Given the description of an element on the screen output the (x, y) to click on. 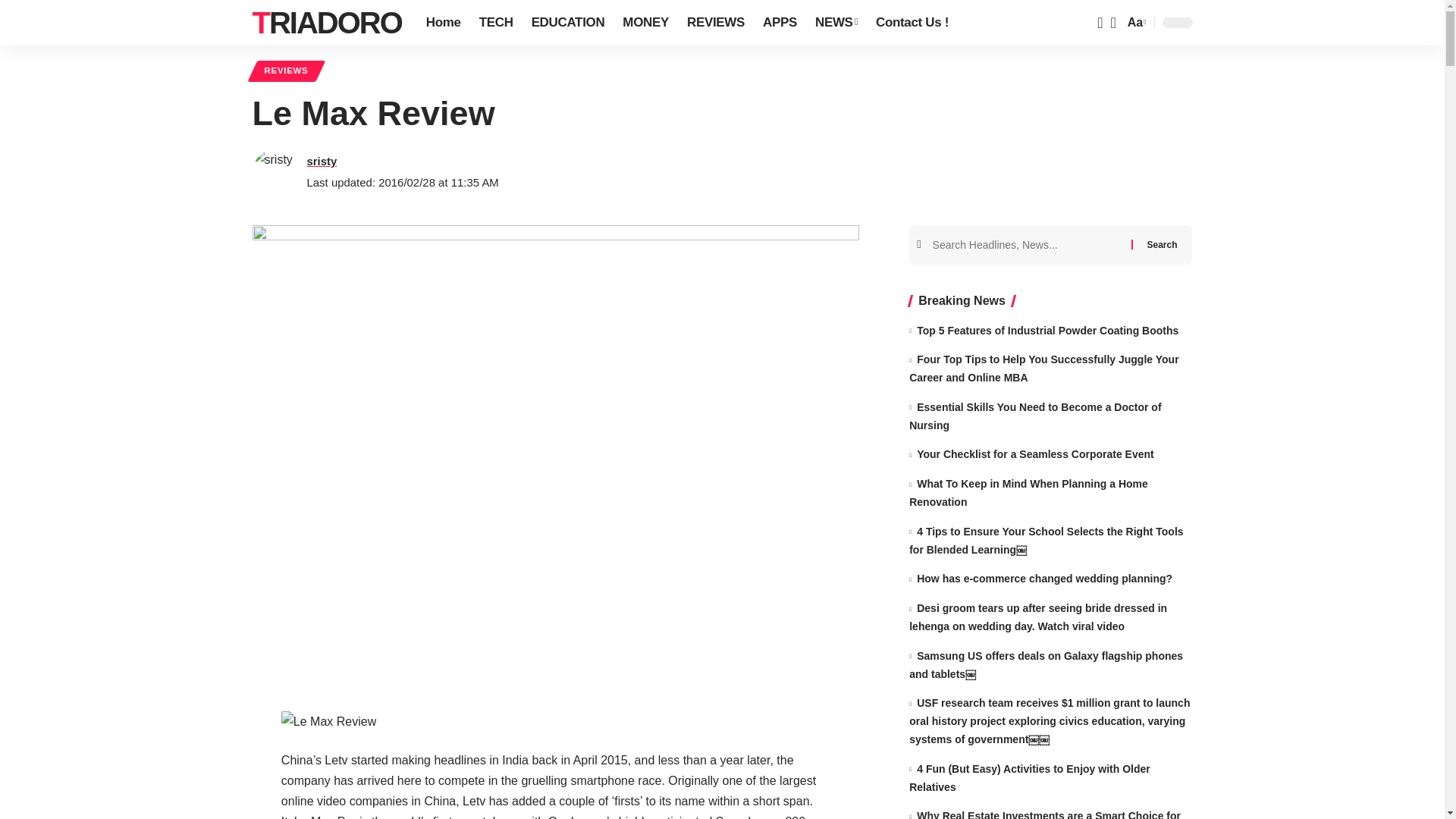
Triadoro (326, 22)
Le Max Review (328, 721)
Contact Us ! (912, 22)
APPS (780, 22)
Home (443, 22)
REVIEWS (716, 22)
EDUCATION (568, 22)
MONEY (645, 22)
Aa (1135, 22)
TECH (496, 22)
TRIADORO (326, 22)
Search (1161, 243)
Search (1161, 243)
NEWS (836, 22)
